Given the description of an element on the screen output the (x, y) to click on. 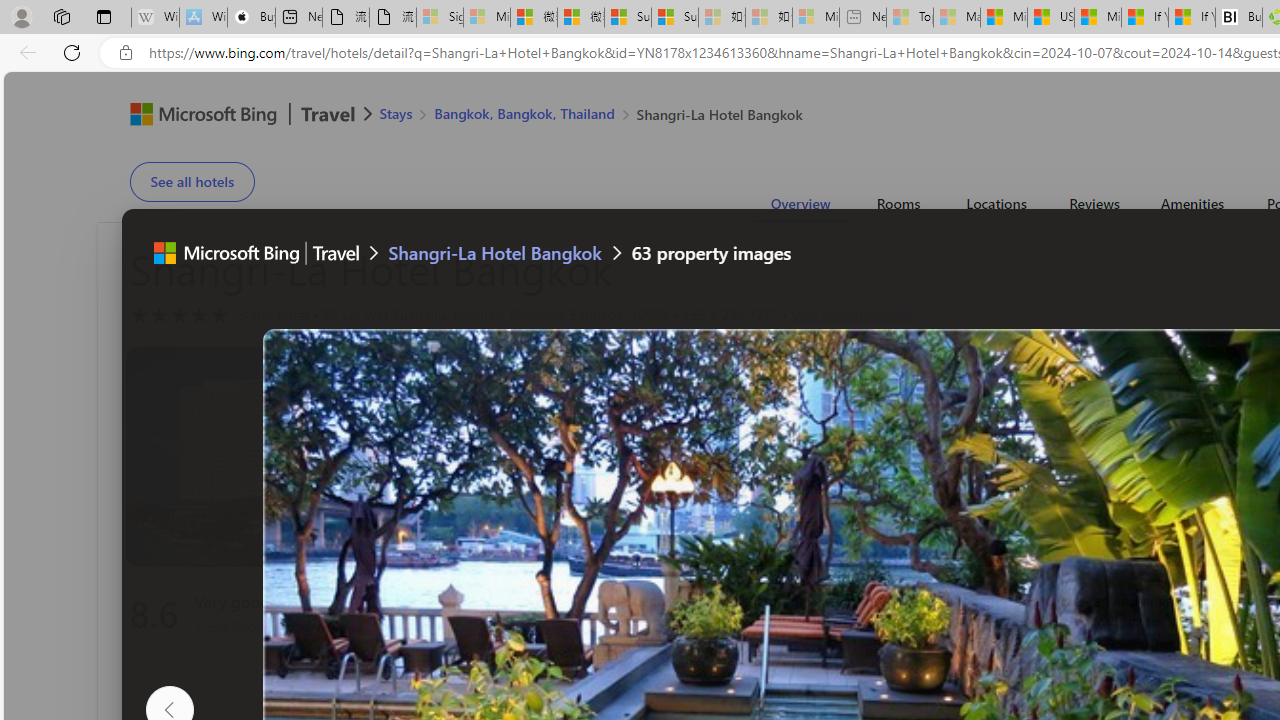
Marine life - MSN - Sleeping (957, 17)
Microsoft Services Agreement - Sleeping (486, 17)
Microsoft account | Account Checkup - Sleeping (815, 17)
Top Stories - MSN - Sleeping (910, 17)
US Heat Deaths Soared To Record High Last Year (1050, 17)
